Given the description of an element on the screen output the (x, y) to click on. 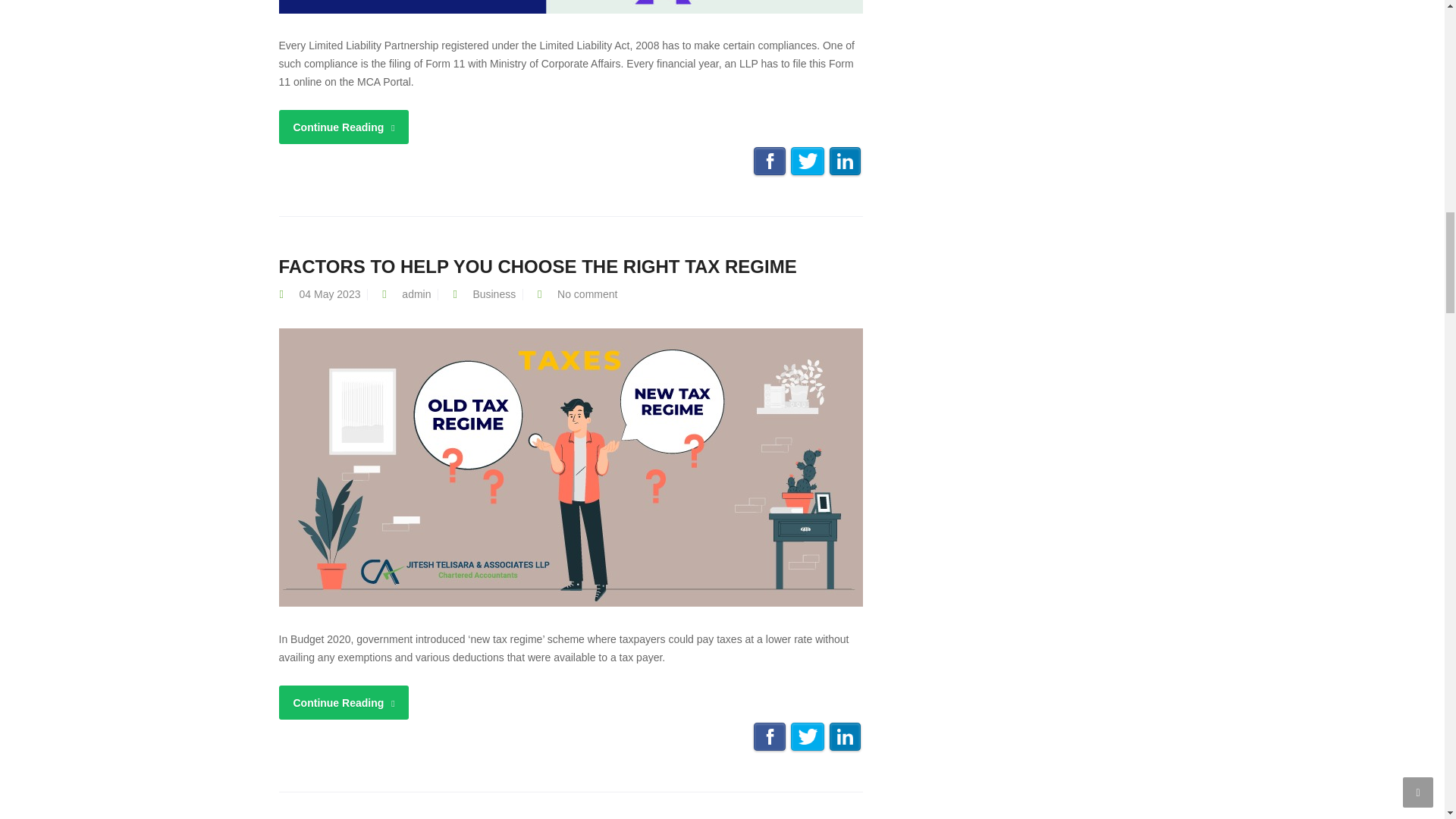
View all posts by admin (415, 294)
